Given the description of an element on the screen output the (x, y) to click on. 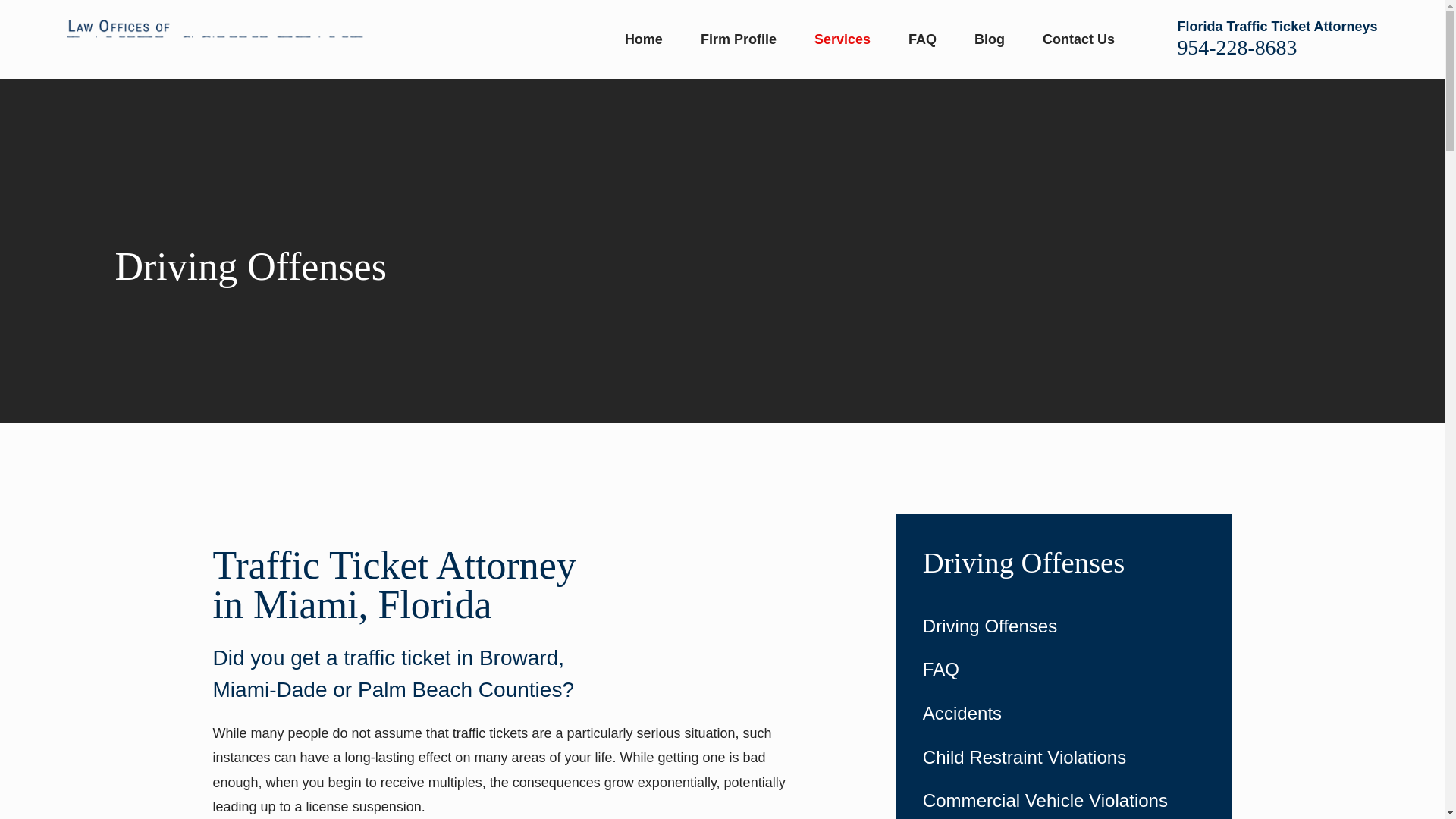
Home (217, 38)
Driving Offenses (1064, 562)
Driving Offenses (1064, 626)
954-228-8683 (1236, 47)
FAQ (1064, 670)
Commercial Vehicle Violations (1064, 799)
Accidents (1064, 714)
Firm Profile (738, 39)
Contact Us (1078, 39)
Child Restraint Violations (1064, 757)
Services (841, 39)
